Given the description of an element on the screen output the (x, y) to click on. 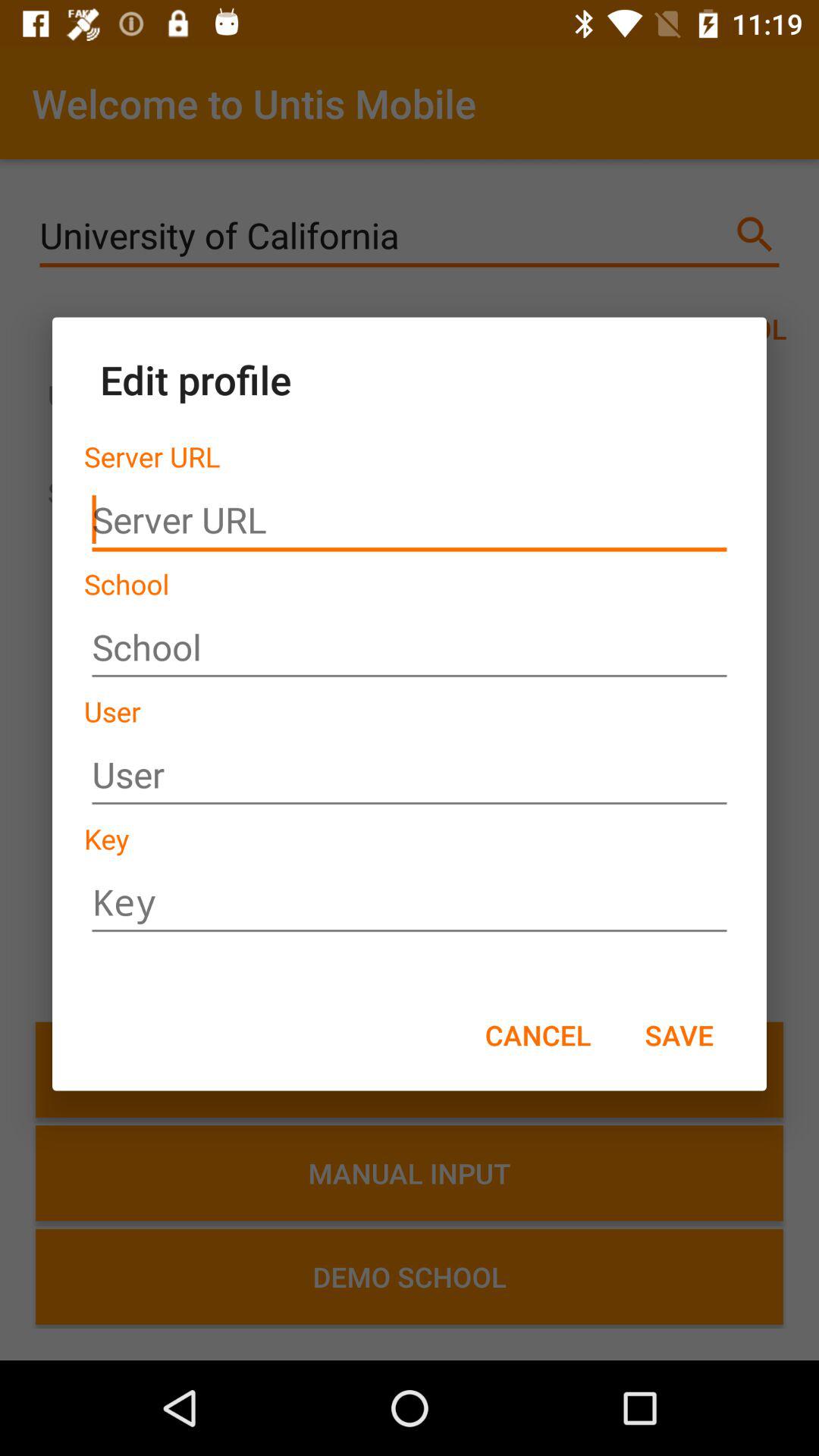
insert key (409, 902)
